Given the description of an element on the screen output the (x, y) to click on. 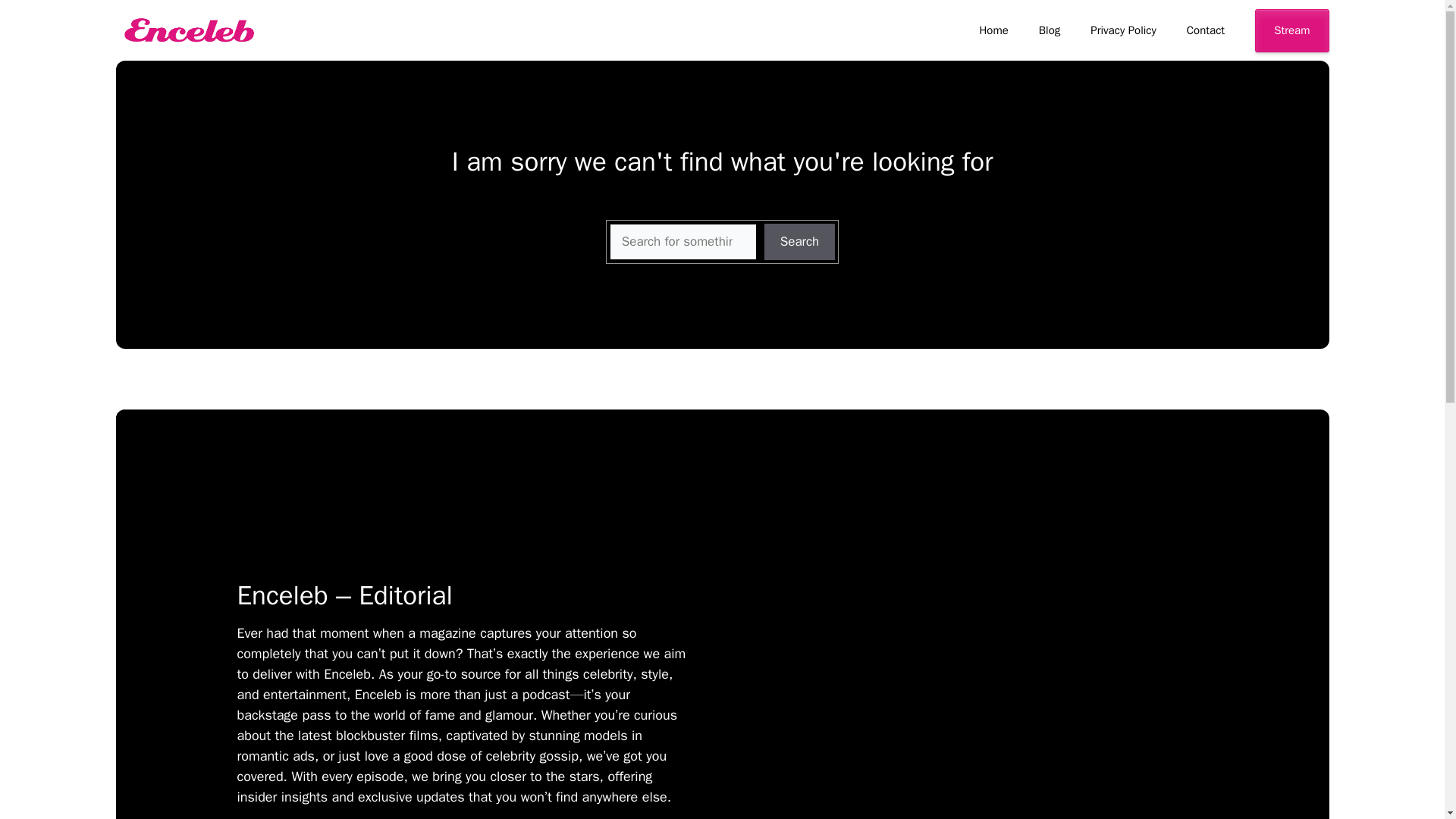
Privacy Policy (1123, 30)
Blog (1049, 30)
Home (993, 30)
Search (799, 241)
Stream (1291, 30)
Contact (1206, 30)
